Given the description of an element on the screen output the (x, y) to click on. 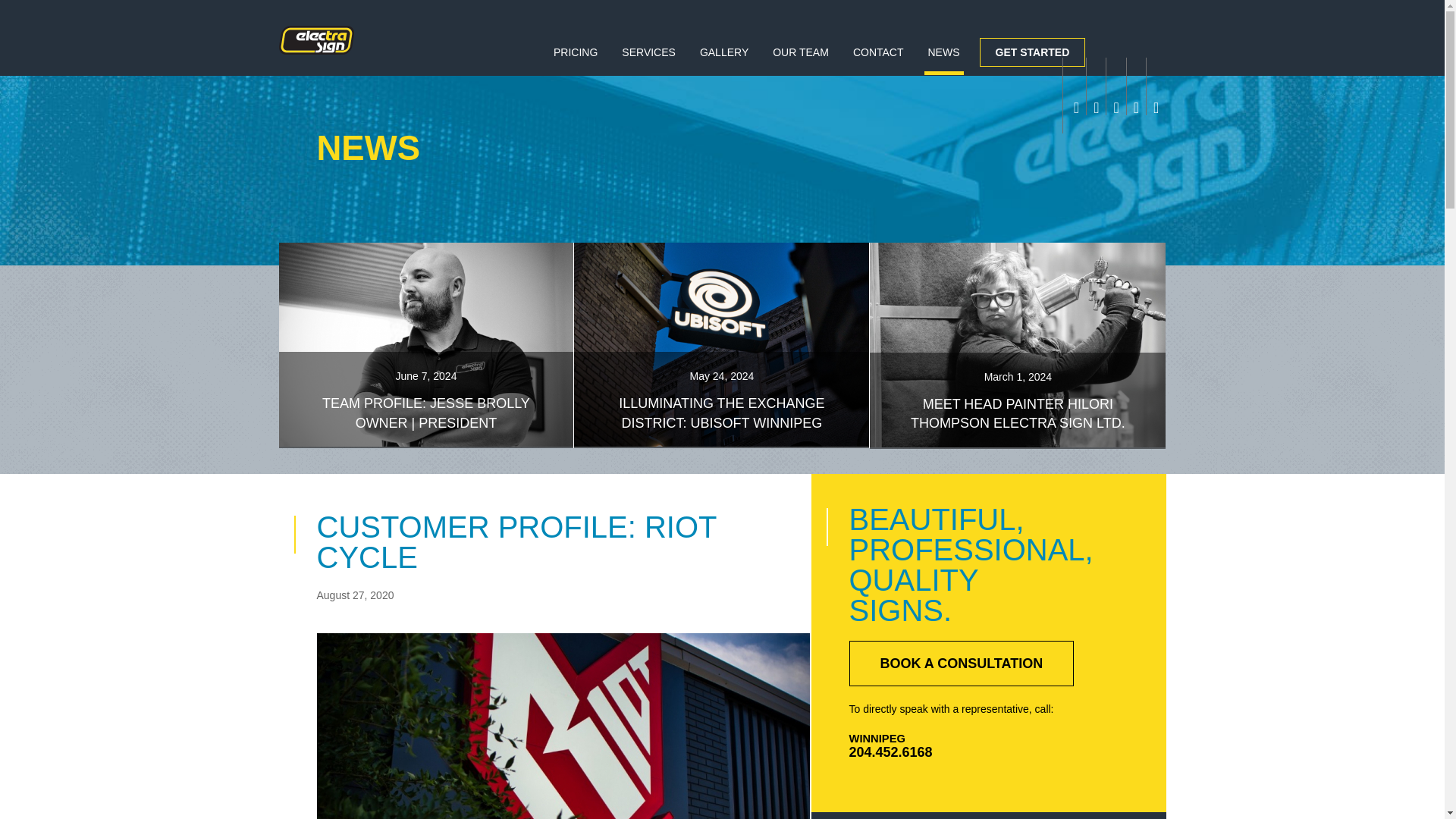
GET STARTED (1032, 51)
SERVICES (648, 58)
OUR TEAM (800, 58)
GALLERY (723, 58)
NEWS (942, 60)
CONTACT (877, 58)
PRICING (575, 58)
